Given the description of an element on the screen output the (x, y) to click on. 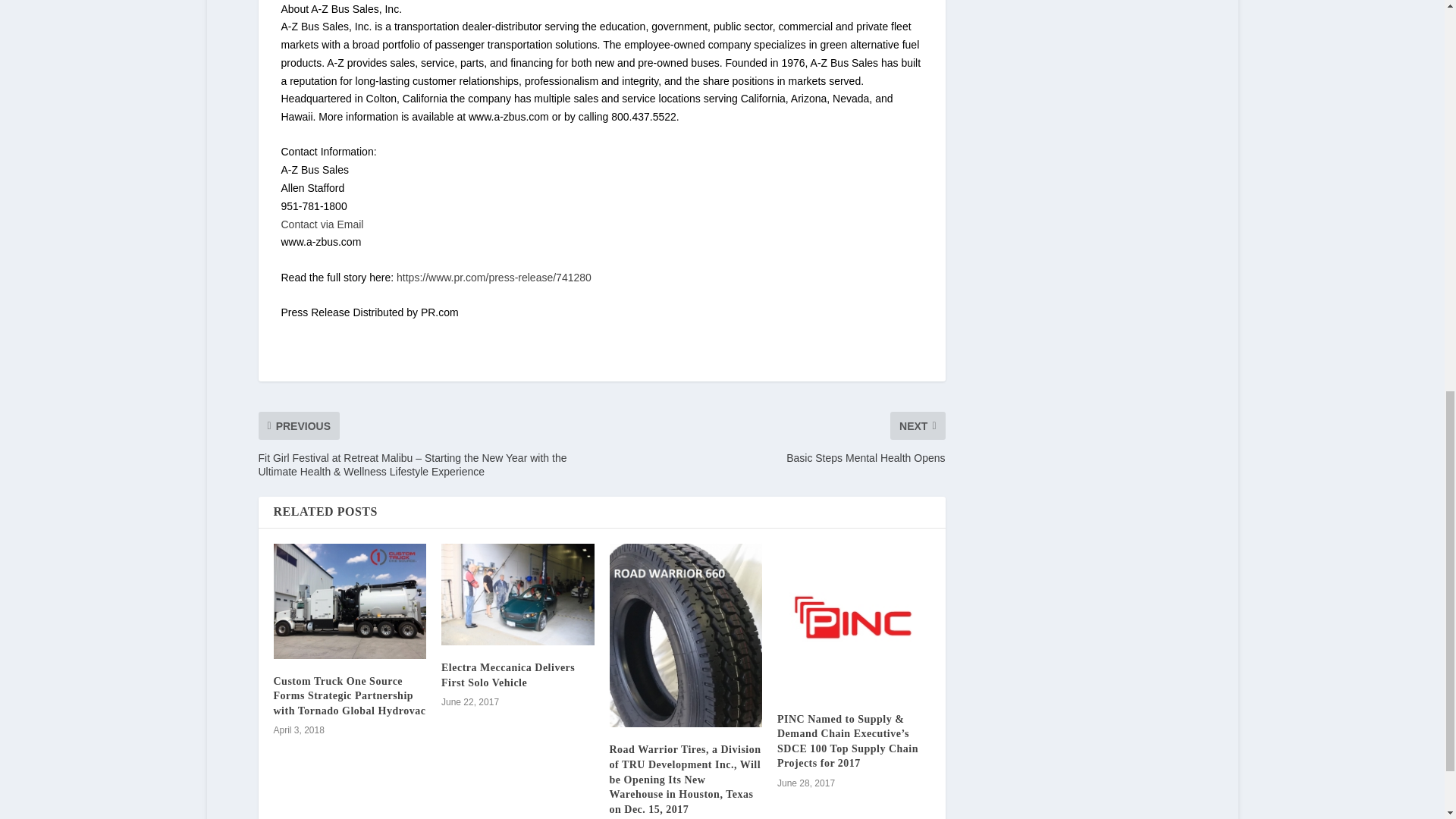
Electra Meccanica Delivers First Solo Vehicle (517, 594)
Contact via Email (321, 224)
